Given the description of an element on the screen output the (x, y) to click on. 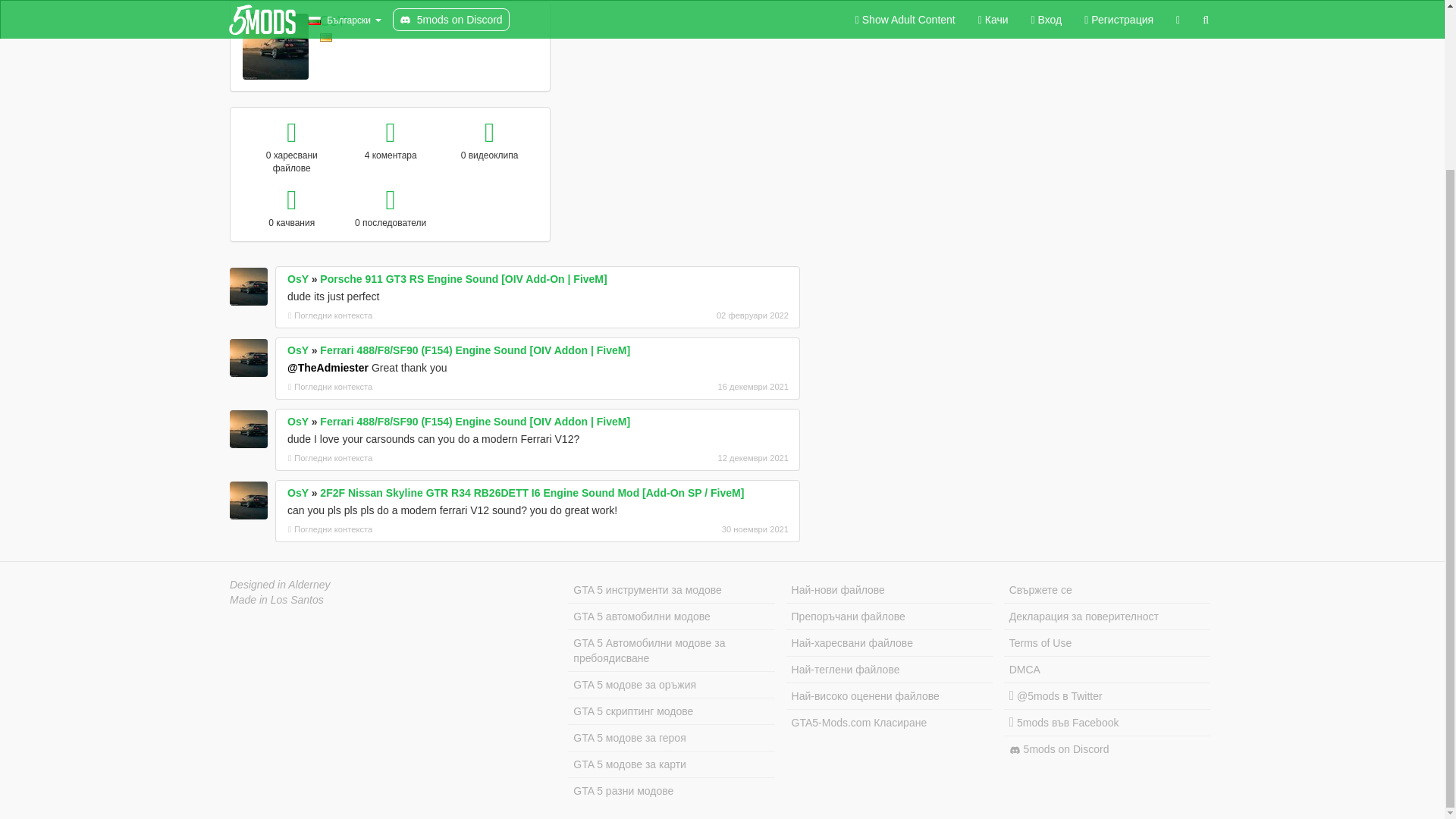
5mods on Discord (1106, 749)
